Given the description of an element on the screen output the (x, y) to click on. 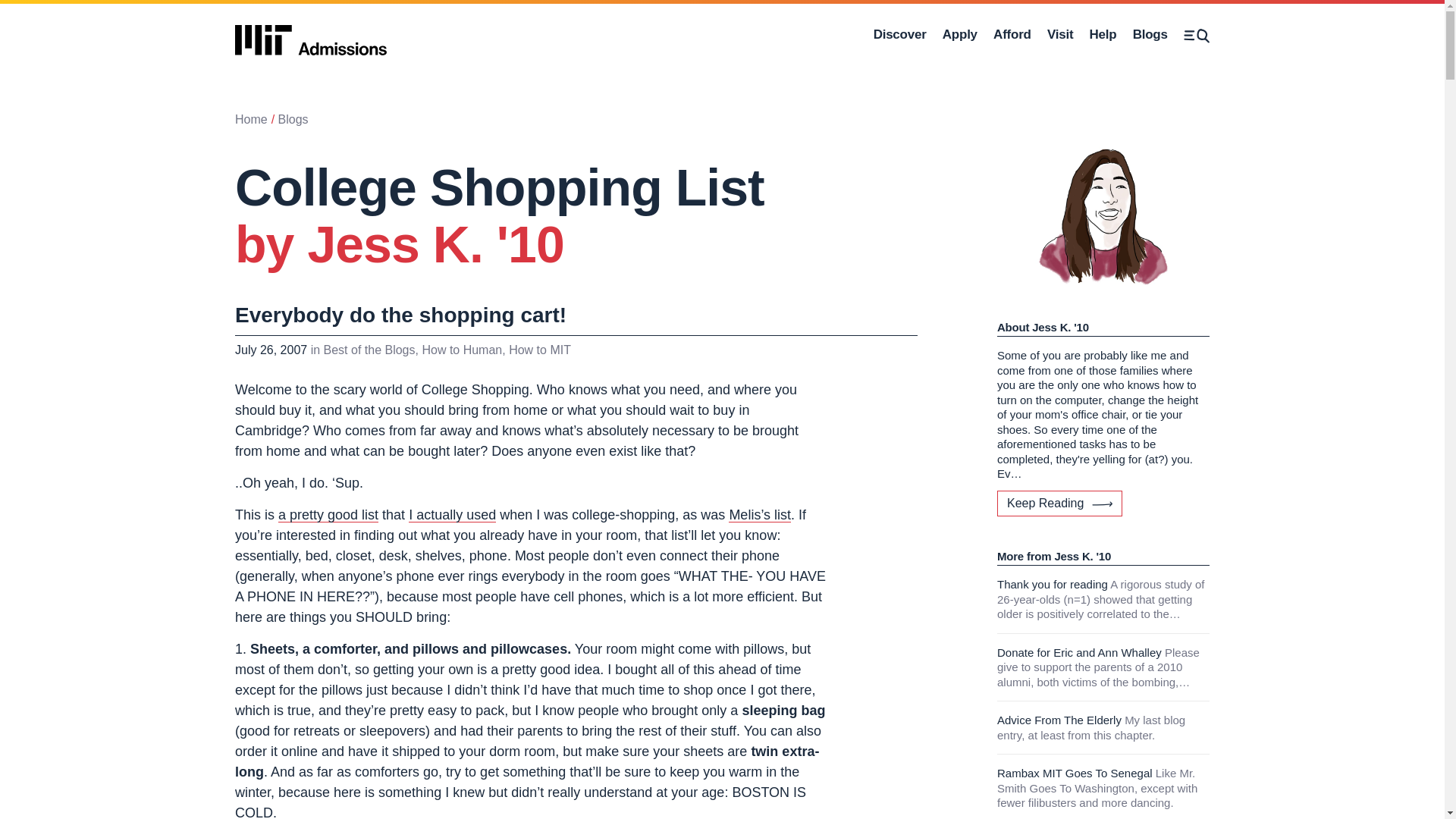
Afford (1196, 34)
How to Human (1011, 35)
Home (462, 349)
MIT logo (250, 119)
Apply (310, 35)
MIT logo (959, 35)
An arrow pointing right (310, 40)
Blogs (1102, 503)
Magnifying glass icon next to a menu icon (1149, 35)
